Given the description of an element on the screen output the (x, y) to click on. 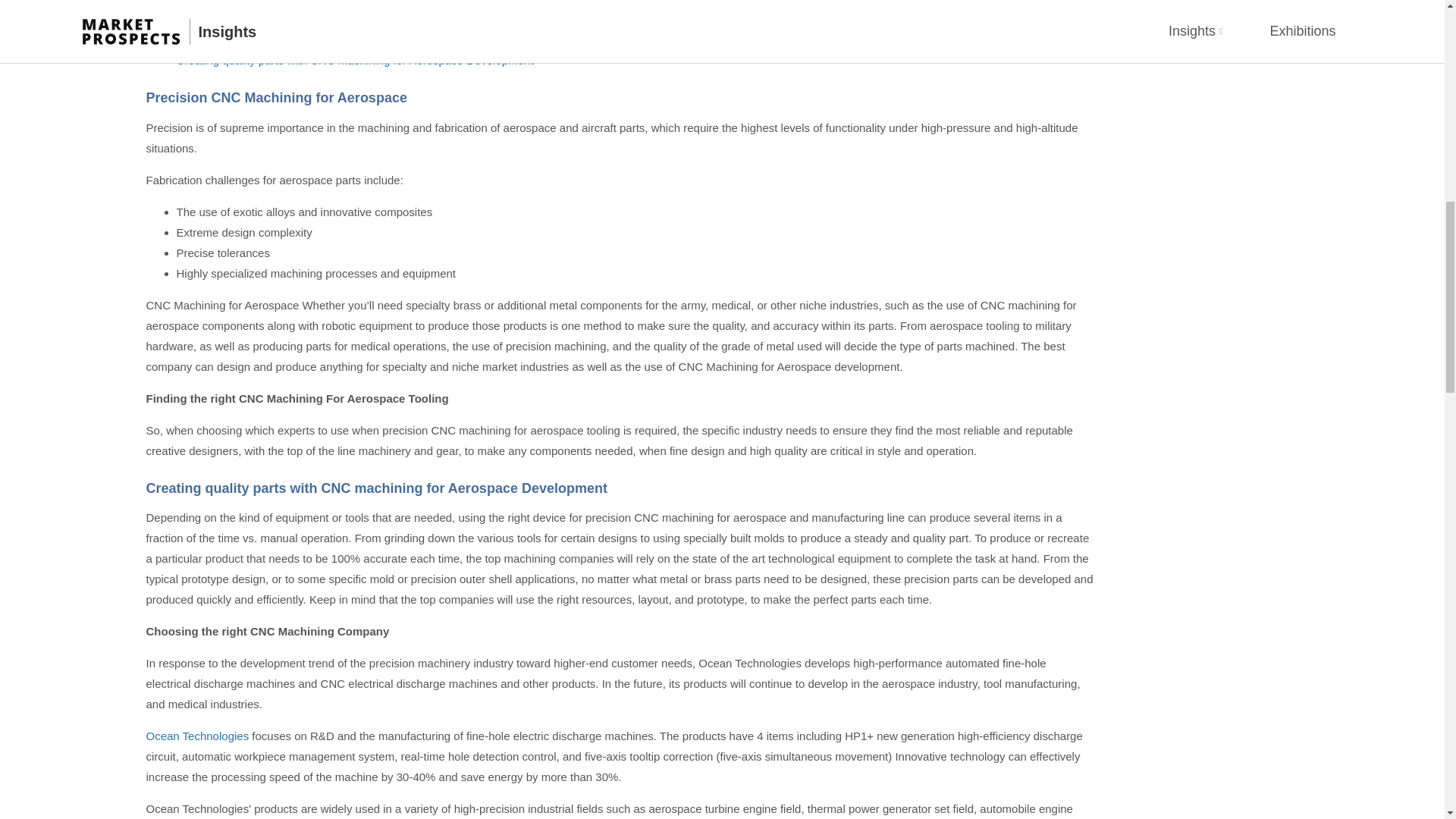
Ocean Technologies (196, 735)
Precision CNC Machining for Aerospace (277, 39)
